Given the description of an element on the screen output the (x, y) to click on. 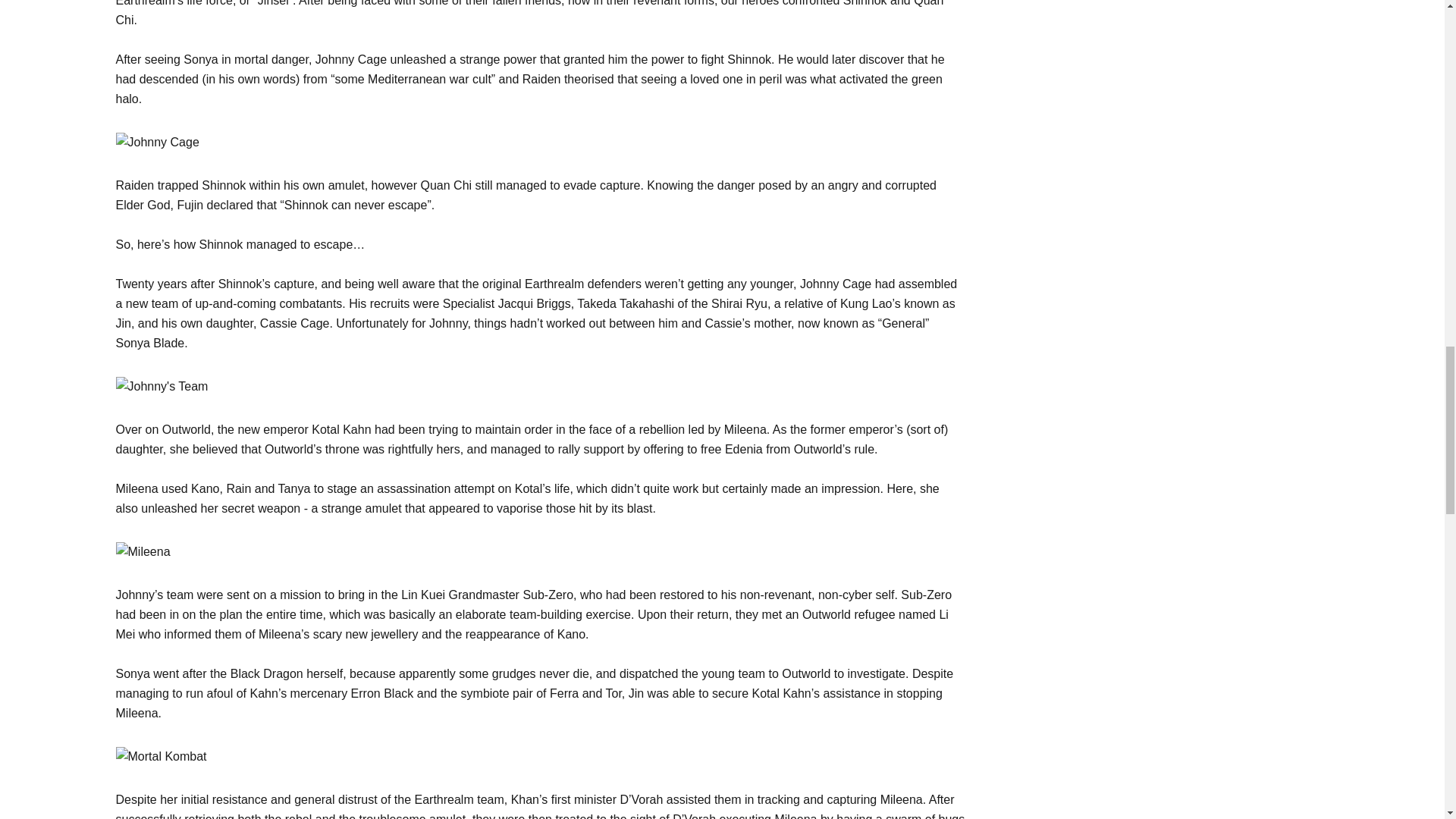
Mortal Kombat X (156, 142)
Mortal Kombat X (161, 386)
Mortal Kombat X (142, 551)
Mortal Kombat (160, 756)
